Given the description of an element on the screen output the (x, y) to click on. 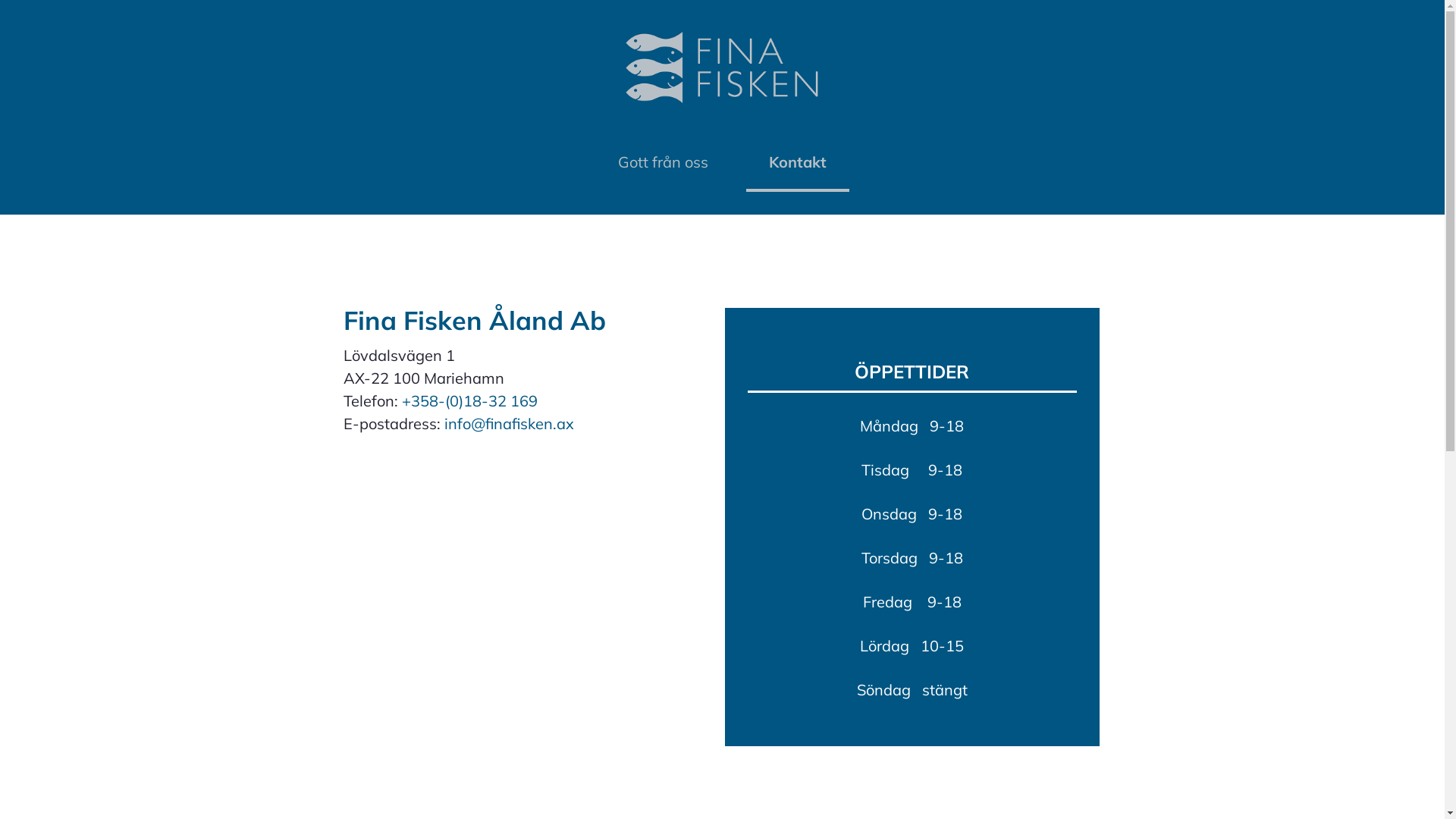
Kontakt Element type: text (797, 163)
info@finafisken.ax Element type: text (509, 423)
+358-(0)18-32 169 Element type: text (469, 400)
